Given the description of an element on the screen output the (x, y) to click on. 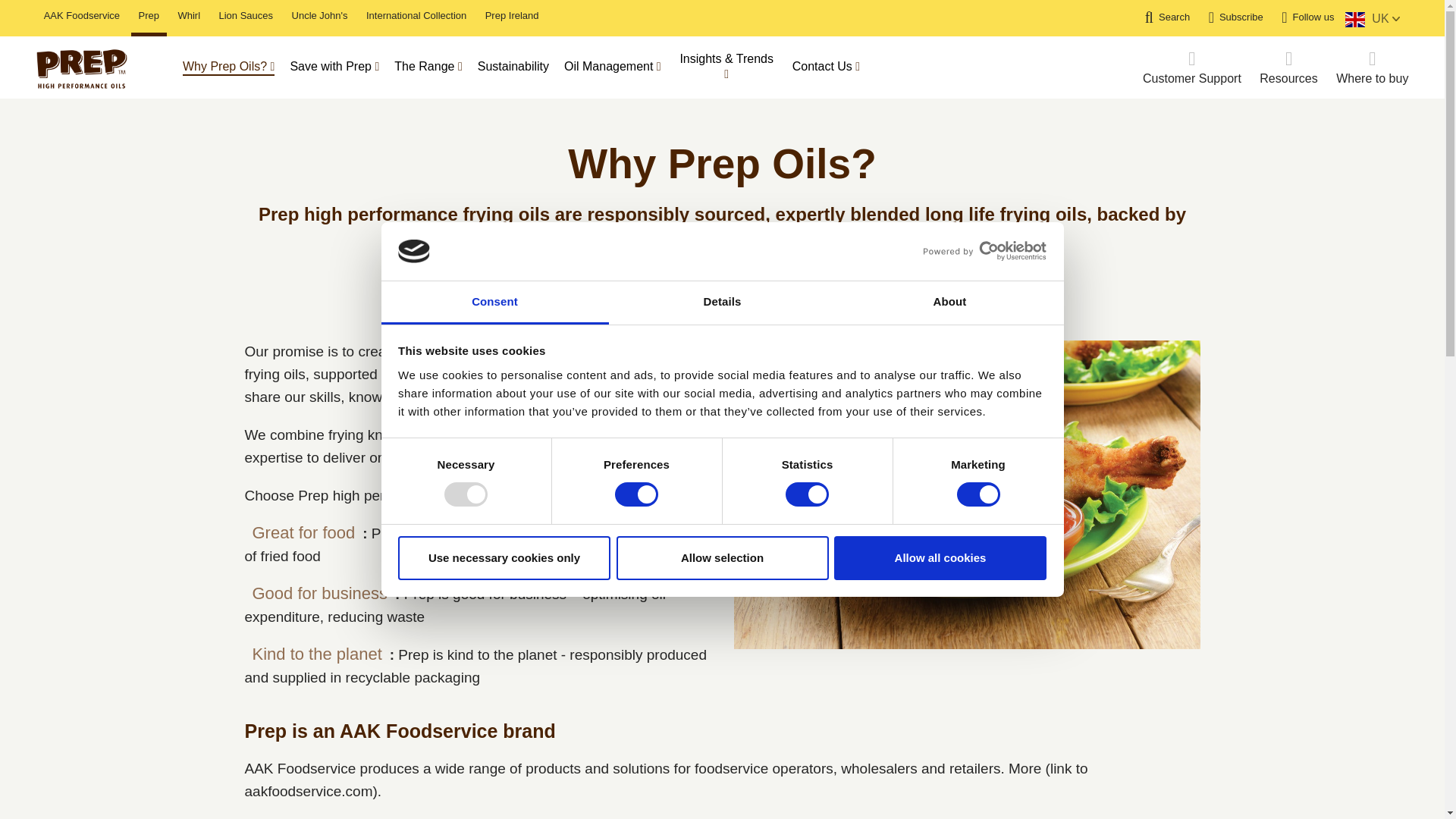
Prep (148, 16)
Lion Sauces (245, 16)
Uncle John's (319, 16)
Consent (494, 302)
Whirl (188, 16)
International Collection (415, 16)
AAK Foodservice (81, 16)
About (948, 302)
Details (721, 302)
